Given the description of an element on the screen output the (x, y) to click on. 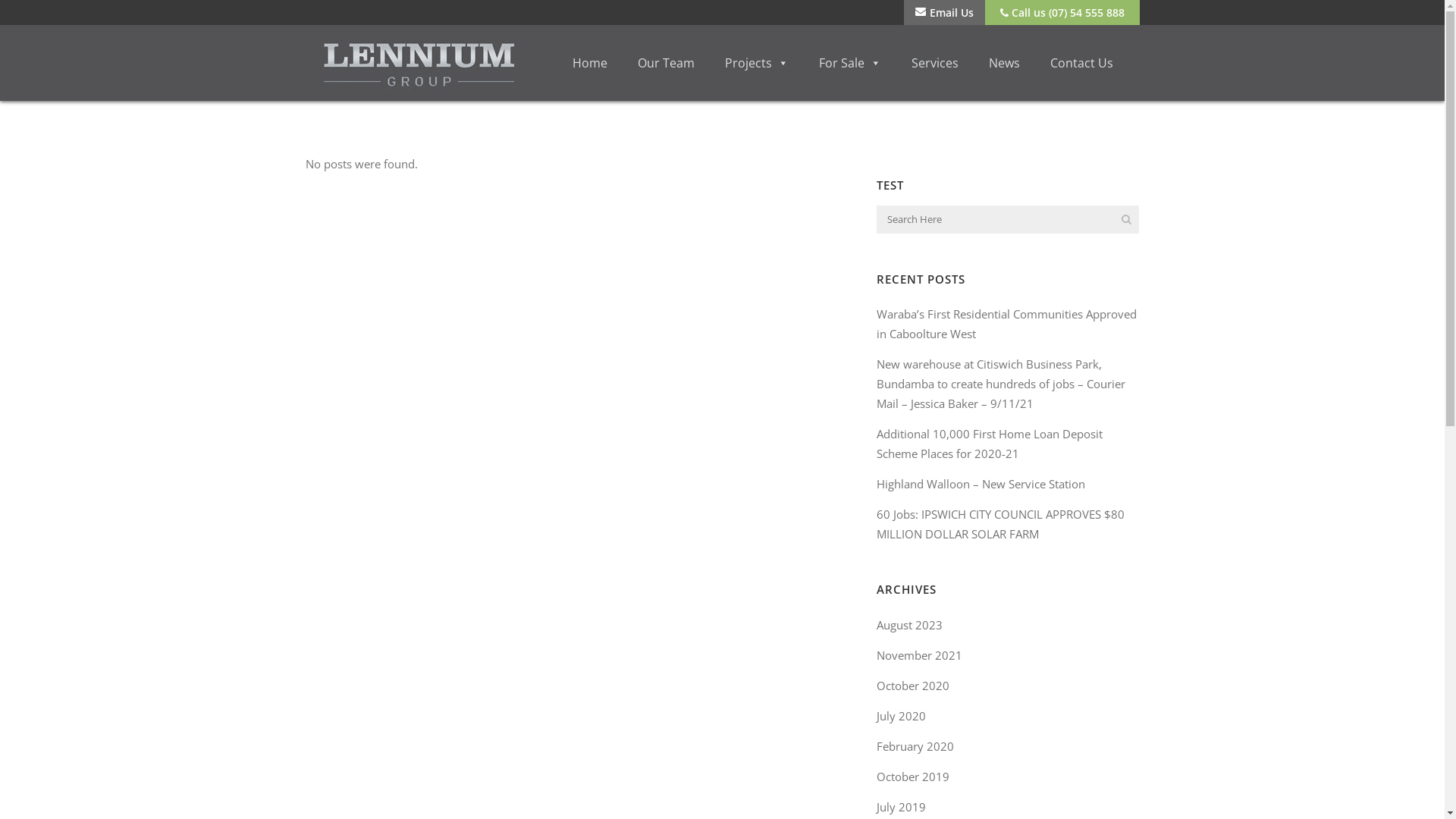
Mediamojo Element type: text (1115, 790)
Services Element type: text (934, 62)
Our Team Element type: text (665, 62)
November 2021 Element type: text (919, 654)
Due Diligence Checklist Element type: text (365, 699)
Home Element type: text (588, 62)
(08) 9389 4449 Element type: text (997, 576)
October 2020 Element type: text (912, 685)
Contact Us Element type: text (1080, 62)
(07) 54 555 888 Element type: text (582, 576)
August 2023 Element type: text (909, 624)
July 2019 Element type: text (900, 806)
Disclaimer Element type: text (411, 716)
Email Us Element type: text (944, 12)
October 2019 Element type: text (912, 776)
July 2020 Element type: text (900, 715)
Email WA Element type: text (982, 593)
Email QLD Element type: text (567, 593)
Email VIC Element type: text (773, 593)
For Sale Element type: text (849, 62)
(03) 9510 2888 Element type: text (789, 576)
Projects Element type: text (756, 62)
News Element type: text (1004, 62)
Privacy Policy Element type: text (337, 716)
February 2020 Element type: text (914, 745)
